Given the description of an element on the screen output the (x, y) to click on. 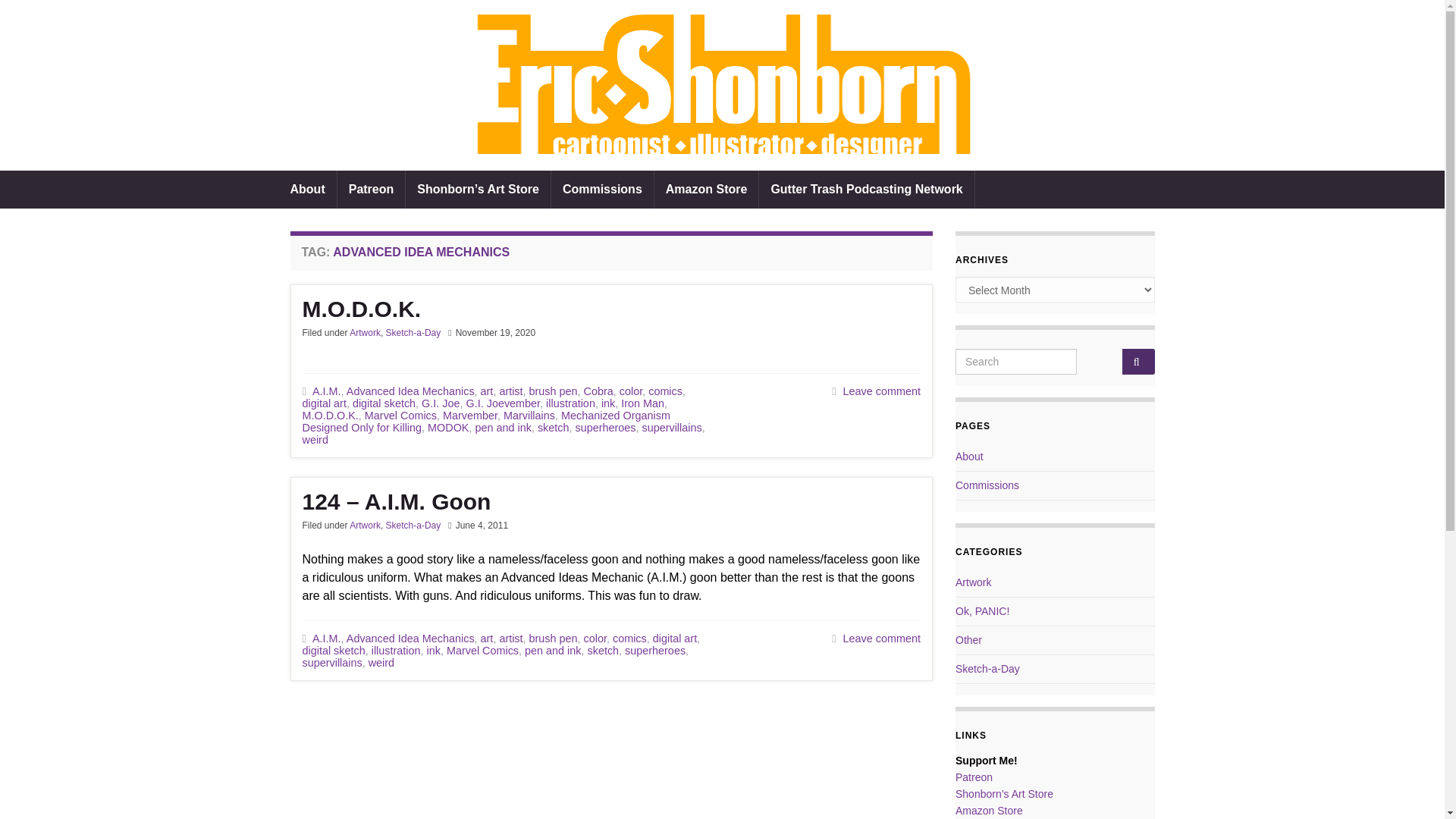
M.O.D.O.K. (610, 309)
2011-06-04T16:03:31-04:00 (481, 525)
supervillains (671, 427)
Advanced Idea Mechanics (410, 390)
Cobra (597, 390)
art (486, 390)
Marvel Comics (400, 415)
ink (607, 403)
digital sketch (383, 403)
Patreon (371, 189)
